Given the description of an element on the screen output the (x, y) to click on. 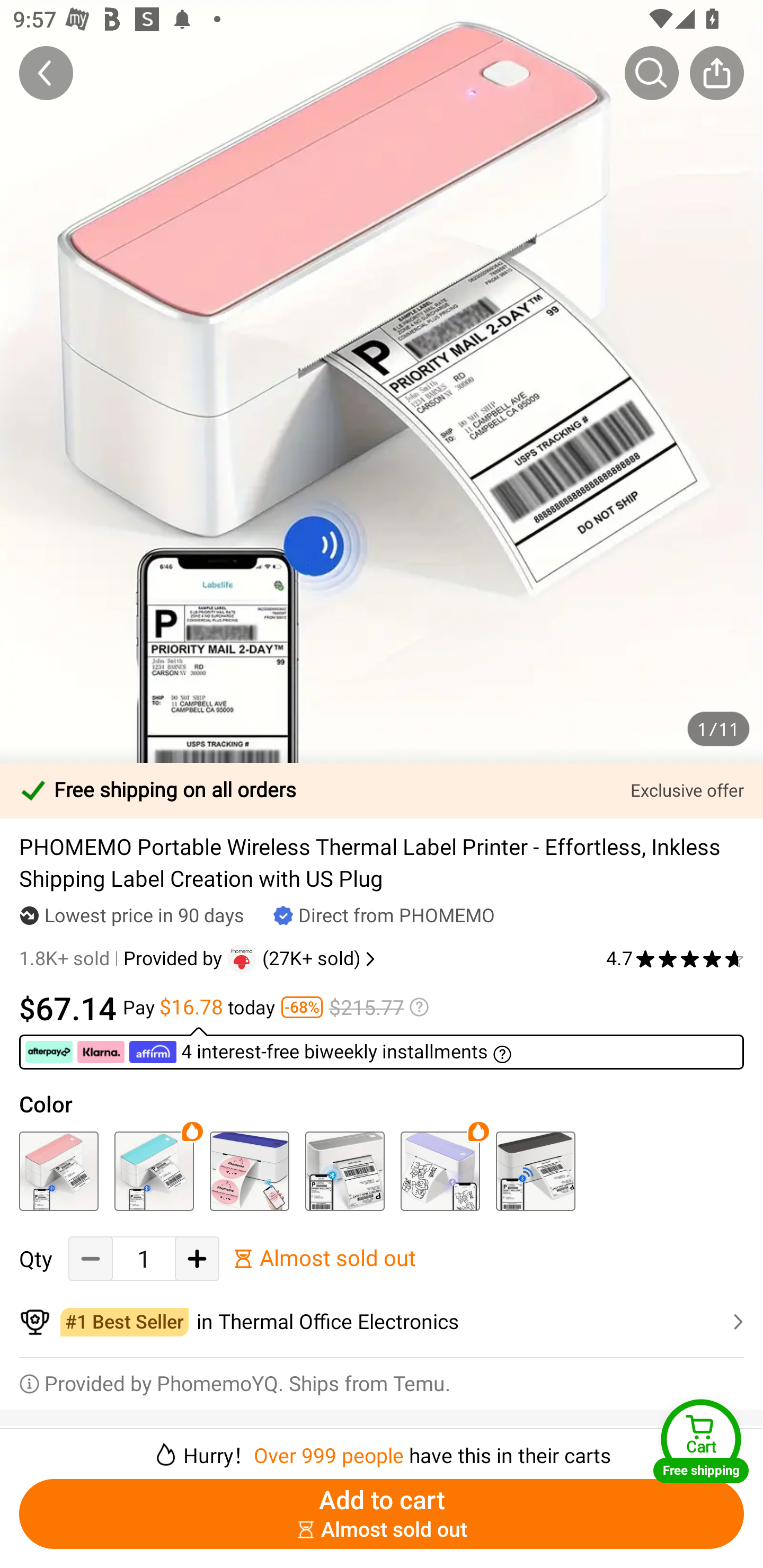
Back (46, 72)
Share (716, 72)
Free shipping on all orders Exclusive offer (381, 790)
4.7 (674, 958)
￼ ￼ ￼ 4 interest-free biweekly installments ￼ (381, 1048)
White And Pink (58, 1171)
White And Green   (153, 1171)
White Blue (249, 1171)
Silver (344, 1171)
White Purple   (439, 1171)
White And Black (535, 1171)
Decrease Quantity Button (90, 1259)
1 (143, 1259)
Add Quantity button (196, 1259)
￼￼in Thermal Office Electronics (381, 1322)
Cart Free shipping Cart (701, 1440)
￼￼Hurry！Over 999 people have this in their carts (381, 1448)
Add to cart ￼￼Almost sold out (381, 1513)
